Given the description of an element on the screen output the (x, y) to click on. 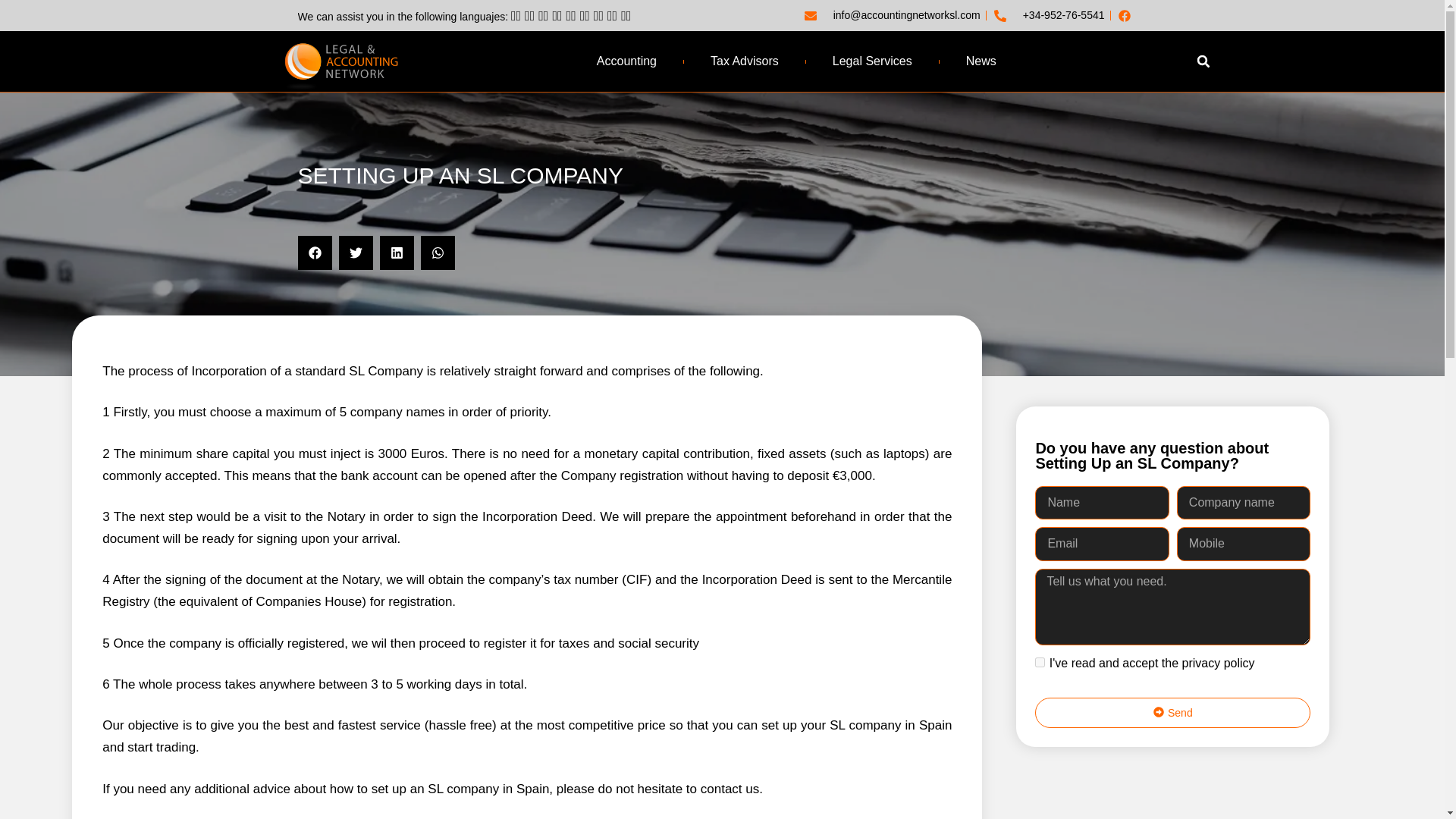
on (1040, 662)
Legal Services (872, 61)
Tax Advisors (744, 61)
News (981, 61)
Accounting (626, 61)
Send (1172, 712)
